Given the description of an element on the screen output the (x, y) to click on. 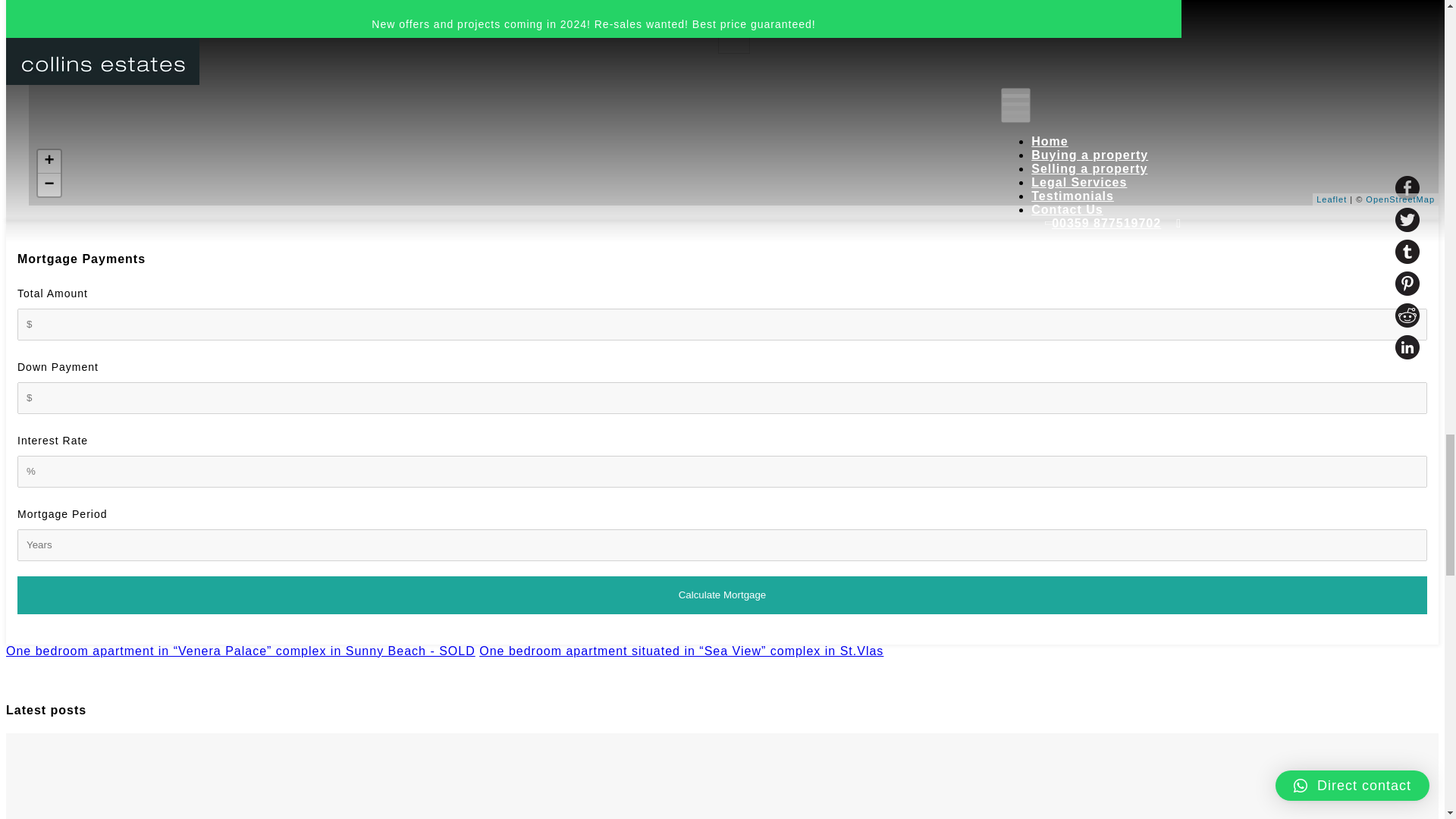
Calculate Mortgage (721, 595)
Leaflet (1331, 198)
Calculate Mortgage (721, 595)
